Given the description of an element on the screen output the (x, y) to click on. 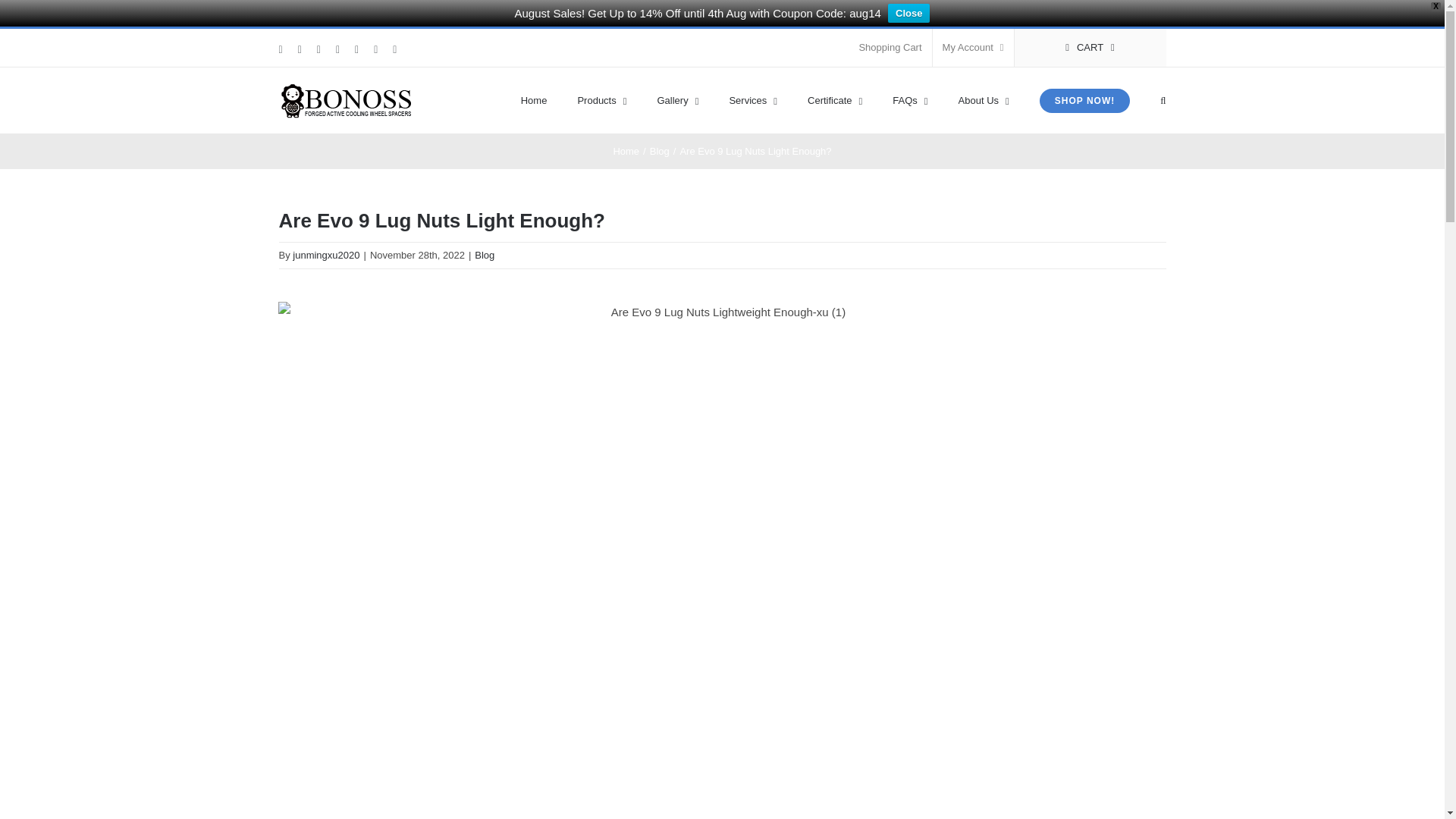
Shopping Cart (889, 47)
My Account (973, 47)
Posts by junmingxu2020 (325, 255)
Close (909, 13)
CART (1090, 47)
Log In (1034, 191)
